Given the description of an element on the screen output the (x, y) to click on. 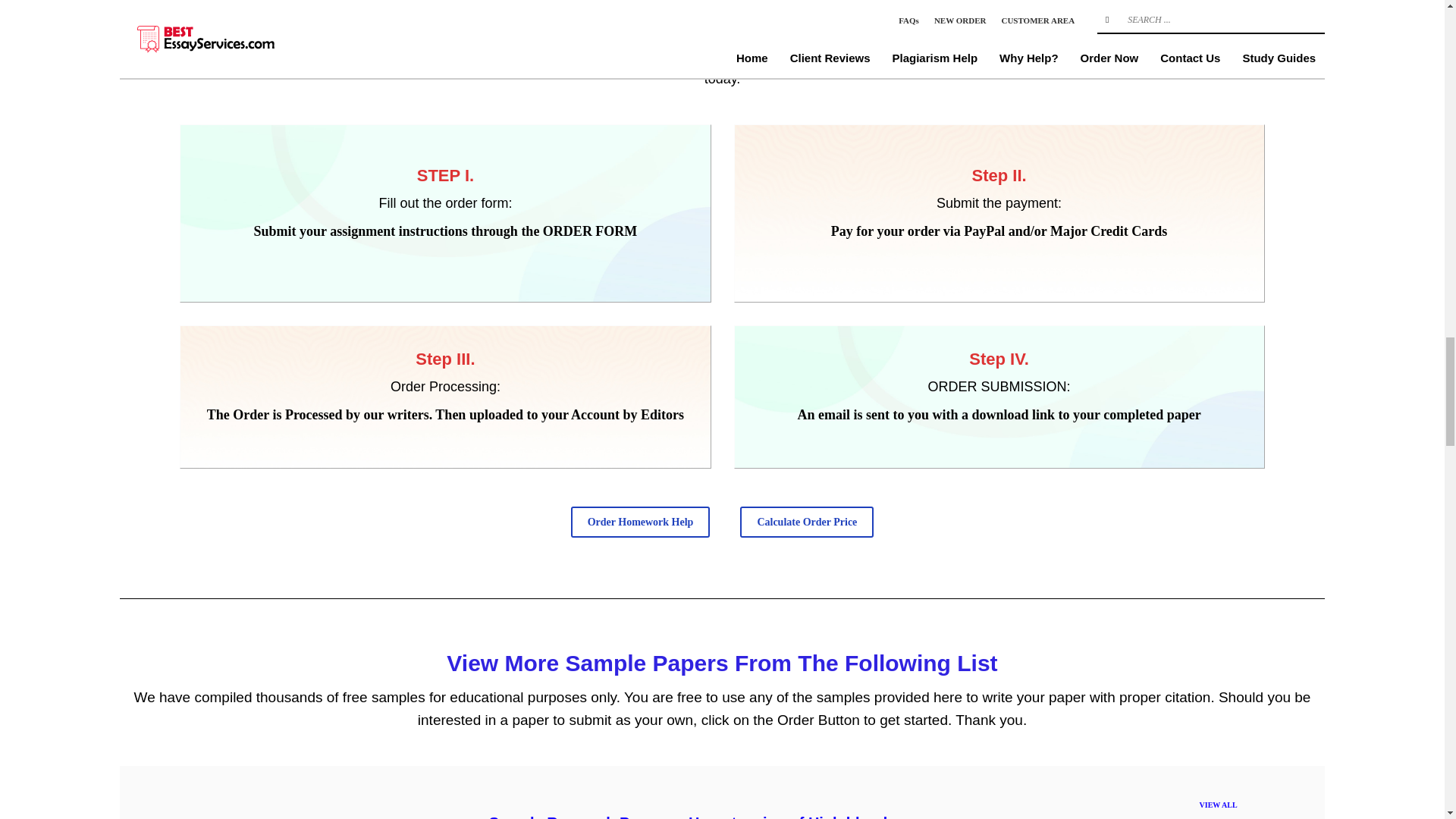
VIEW ALL (1218, 805)
Calculate Order Price (806, 521)
Order Homework Help (640, 521)
